Given the description of an element on the screen output the (x, y) to click on. 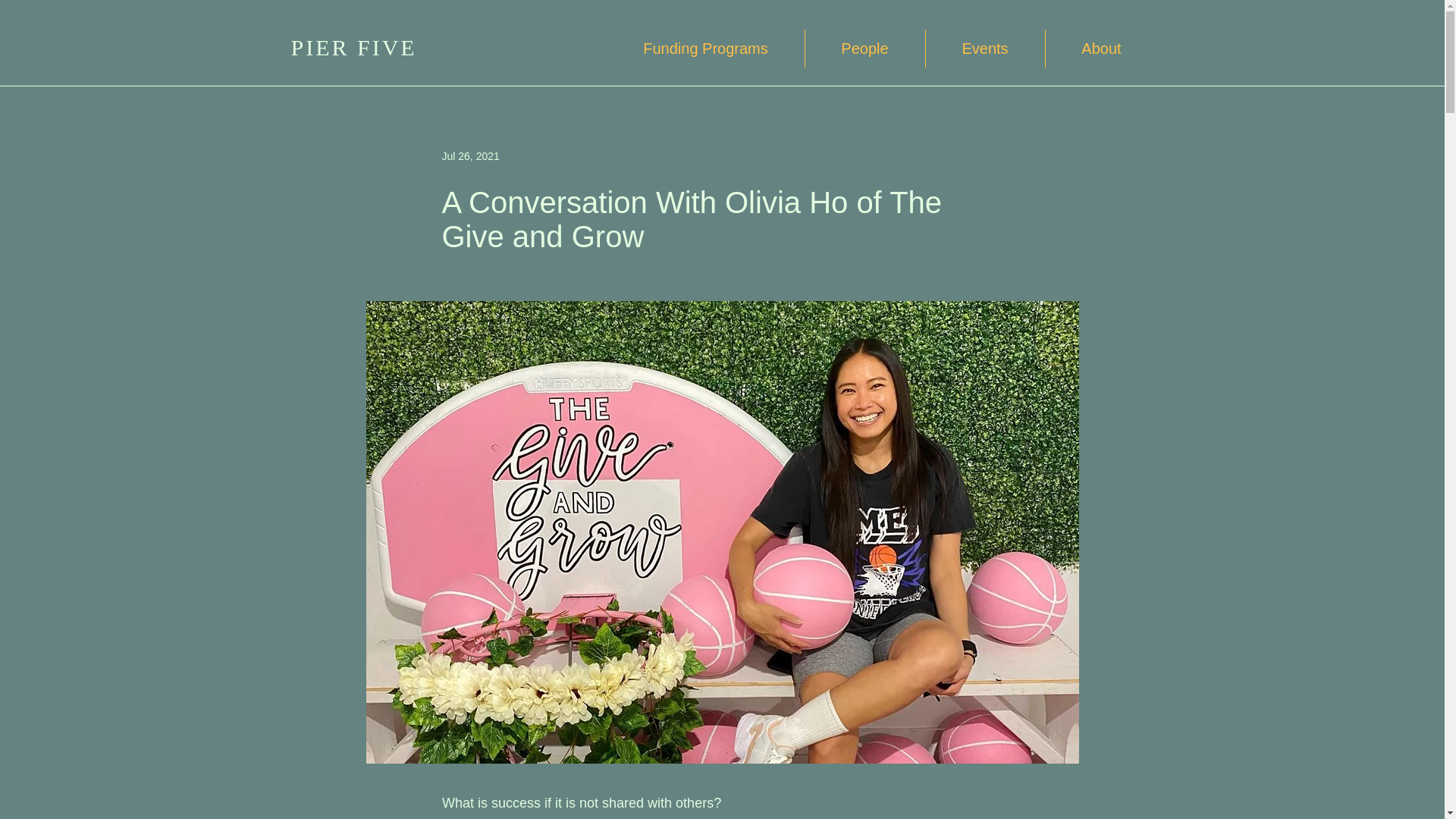
People (864, 48)
Jul 26, 2021 (470, 155)
Funding Programs (705, 48)
PIER FIVE (353, 47)
About (1101, 48)
Events (983, 48)
